Given the description of an element on the screen output the (x, y) to click on. 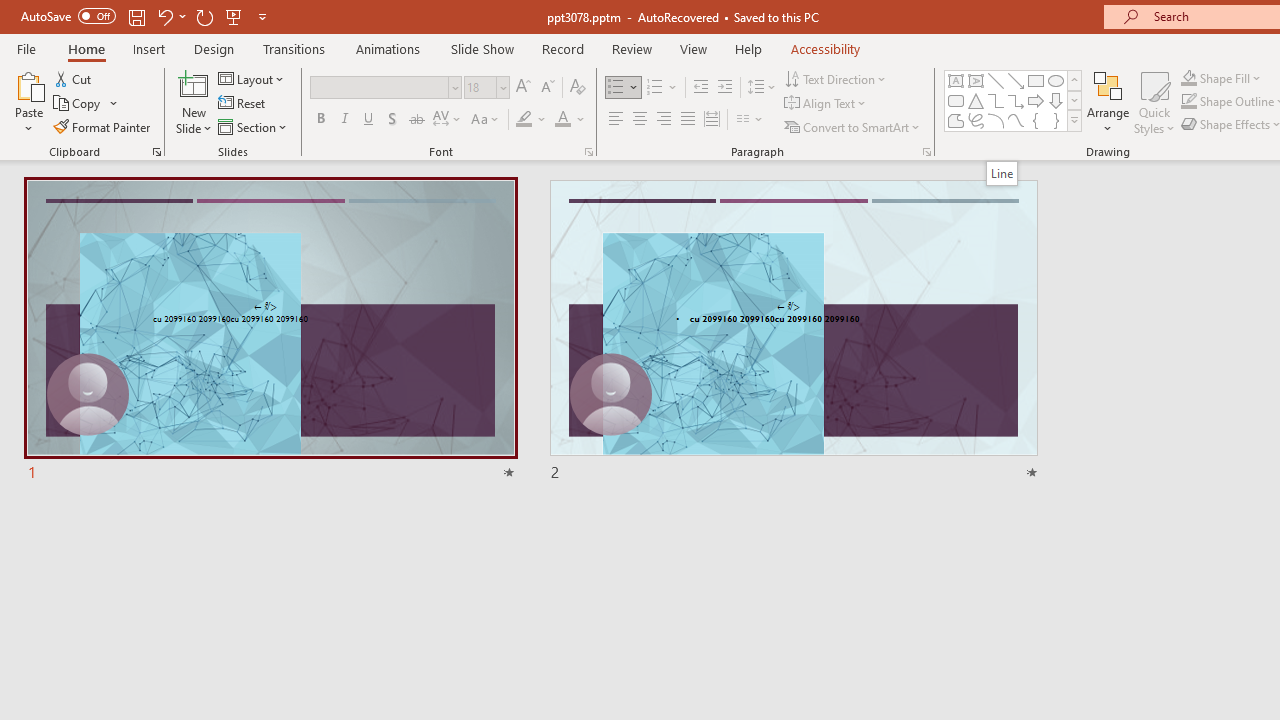
Arrange (1108, 102)
Increase Indent (725, 87)
Text Direction (836, 78)
Shadow (392, 119)
Office Clipboard... (156, 151)
Character Spacing (447, 119)
Decrease Indent (700, 87)
